Given the description of an element on the screen output the (x, y) to click on. 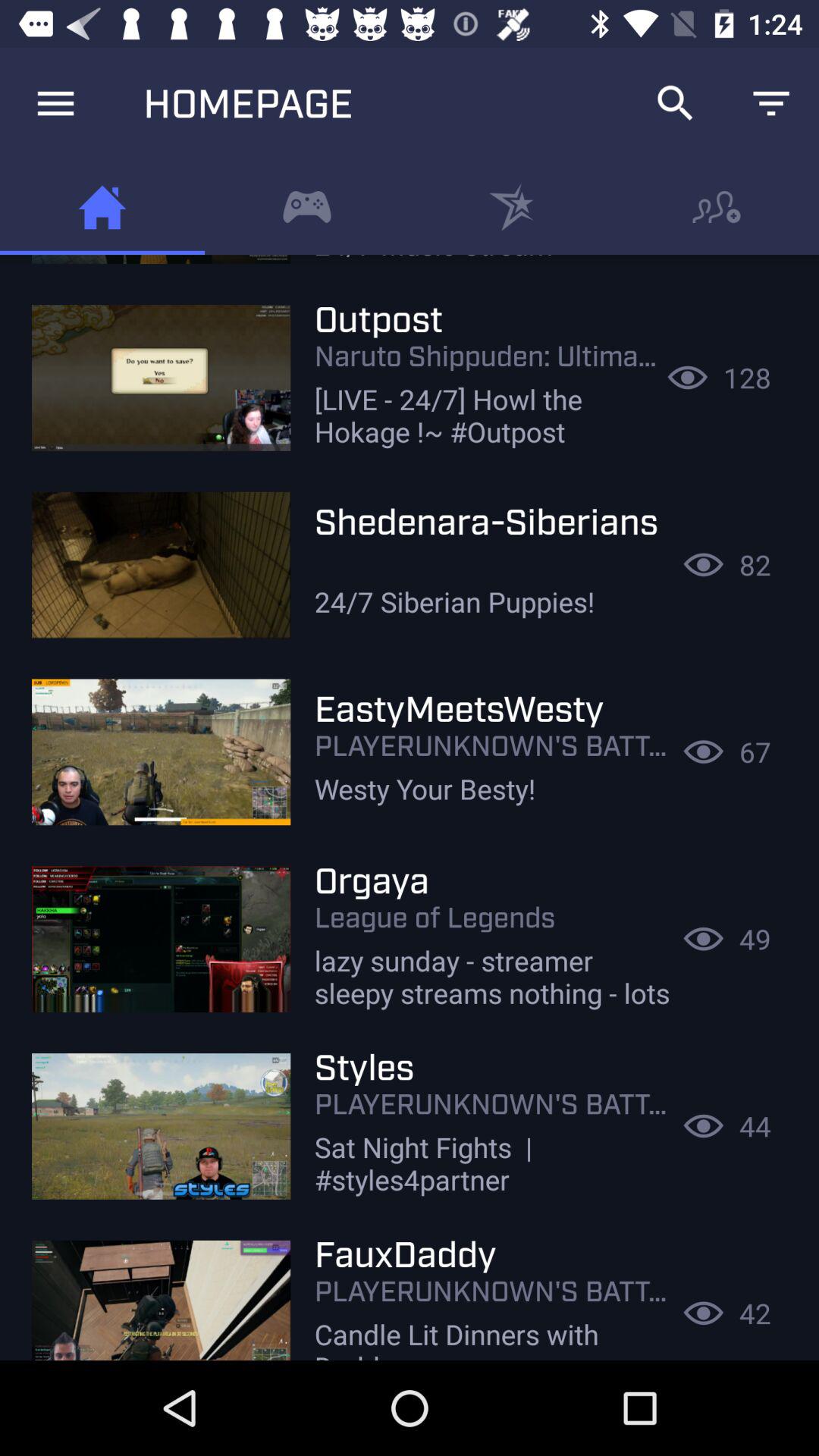
turn on icon next to homepage item (675, 103)
